Given the description of an element on the screen output the (x, y) to click on. 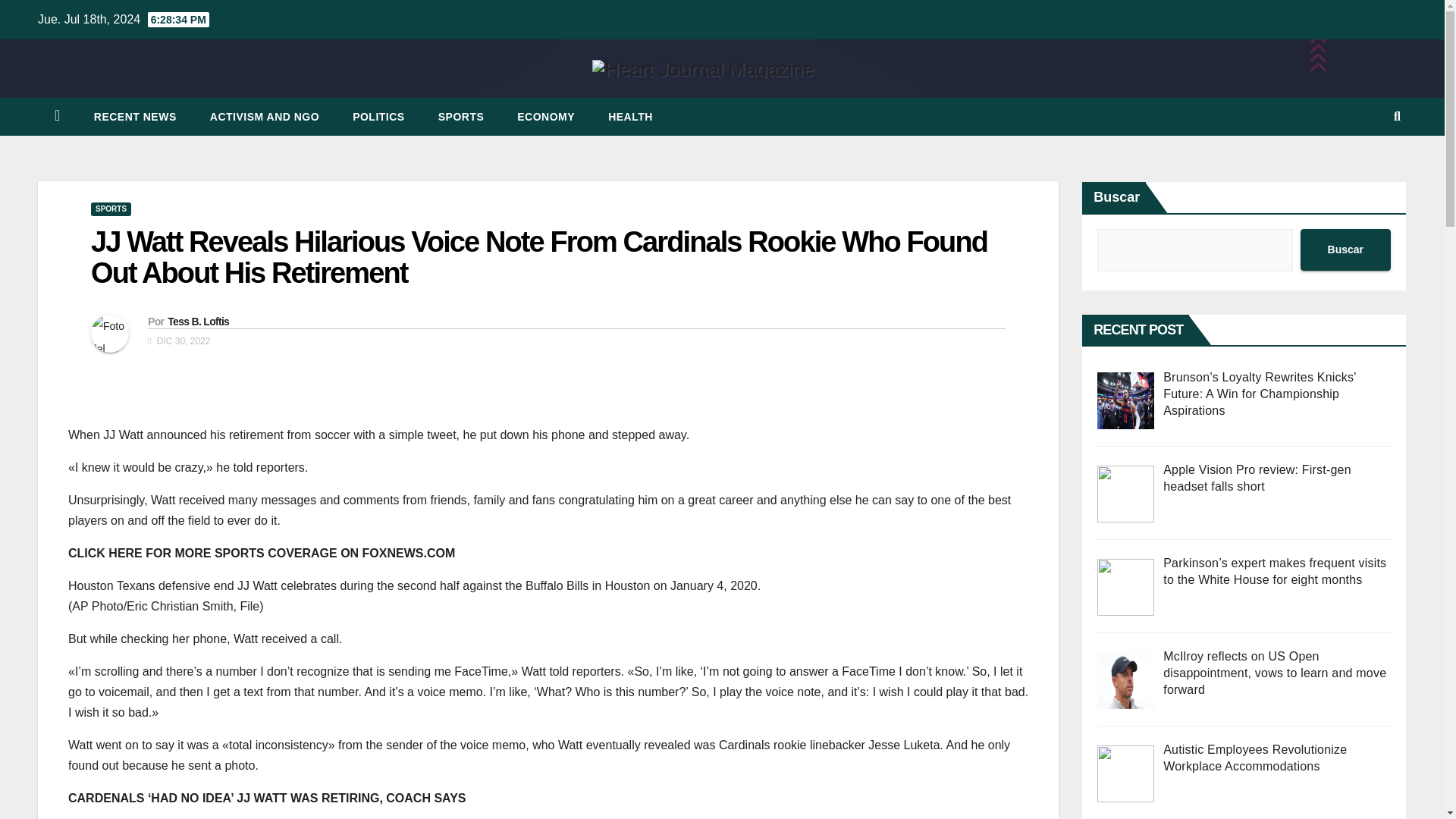
POLITICS (379, 116)
SPORTS (461, 116)
Politics (379, 116)
Sports (461, 116)
Tess B. Loftis (197, 321)
ECONOMY (545, 116)
HEALTH (630, 116)
Economy (545, 116)
Health (630, 116)
Recent news (135, 116)
ACTIVISM AND NGO (264, 116)
RECENT NEWS (135, 116)
Activism and NGO (264, 116)
Buscar (1345, 250)
